Given the description of an element on the screen output the (x, y) to click on. 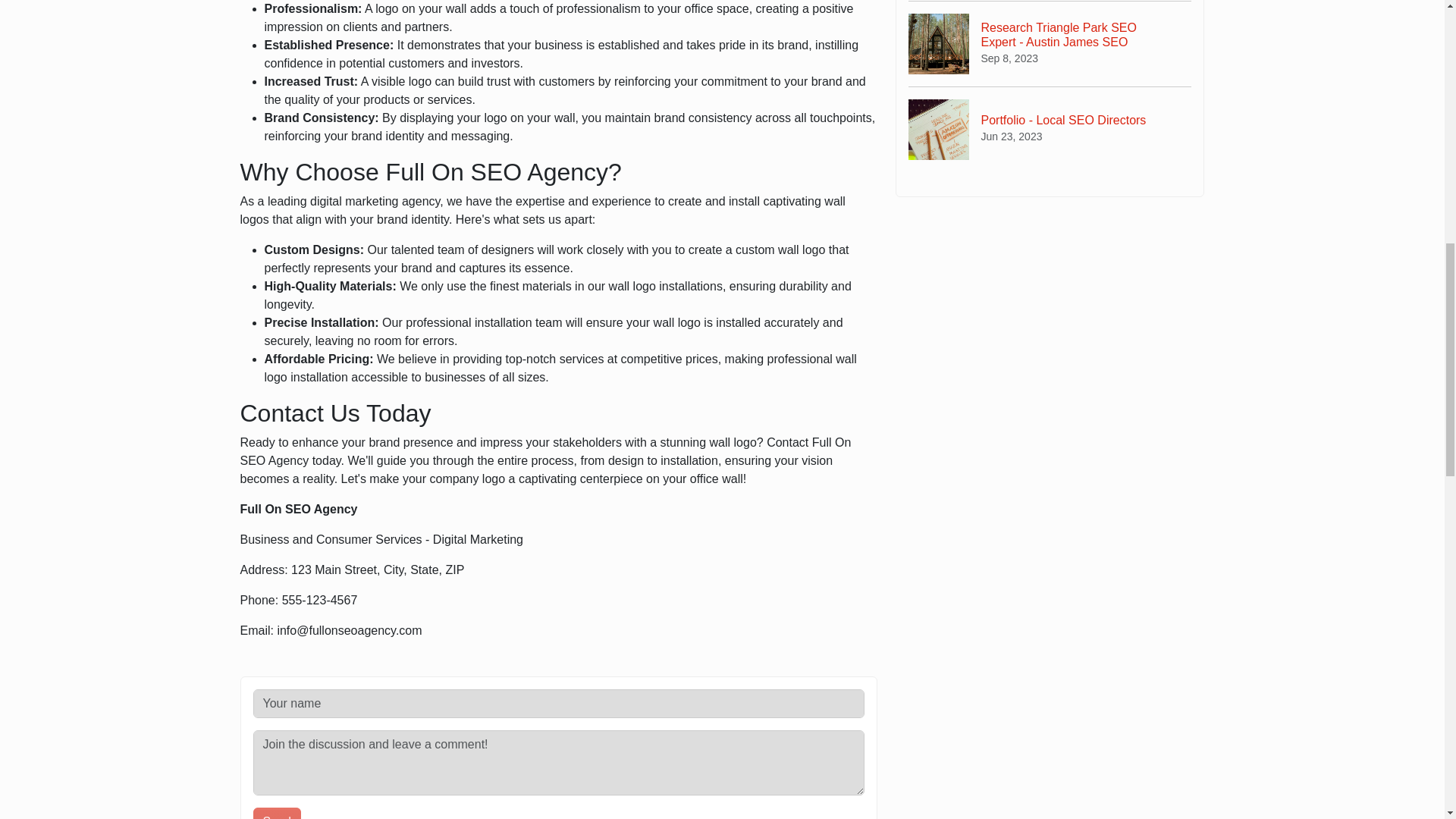
Send (277, 813)
Send (1050, 128)
